Given the description of an element on the screen output the (x, y) to click on. 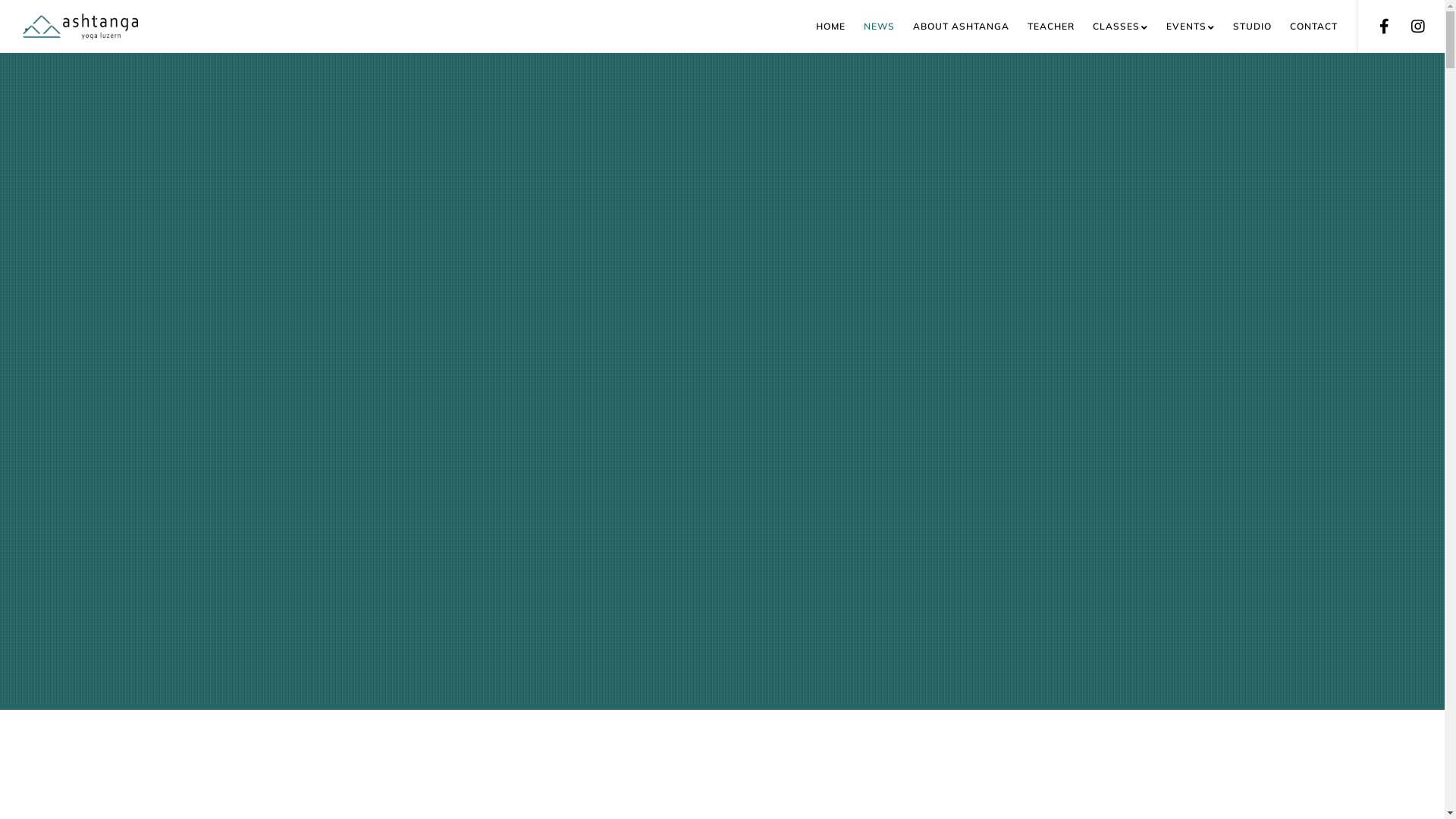
ABOUT ASHTANGA Element type: text (951, 26)
CONTACT Element type: text (1304, 26)
HOME Element type: text (821, 26)
NEWS Element type: text (869, 26)
STUDIO Element type: text (1242, 26)
CLASSES Element type: text (1111, 26)
EVENTS Element type: text (1181, 26)
TEACHER Element type: text (1041, 26)
